Given the description of an element on the screen output the (x, y) to click on. 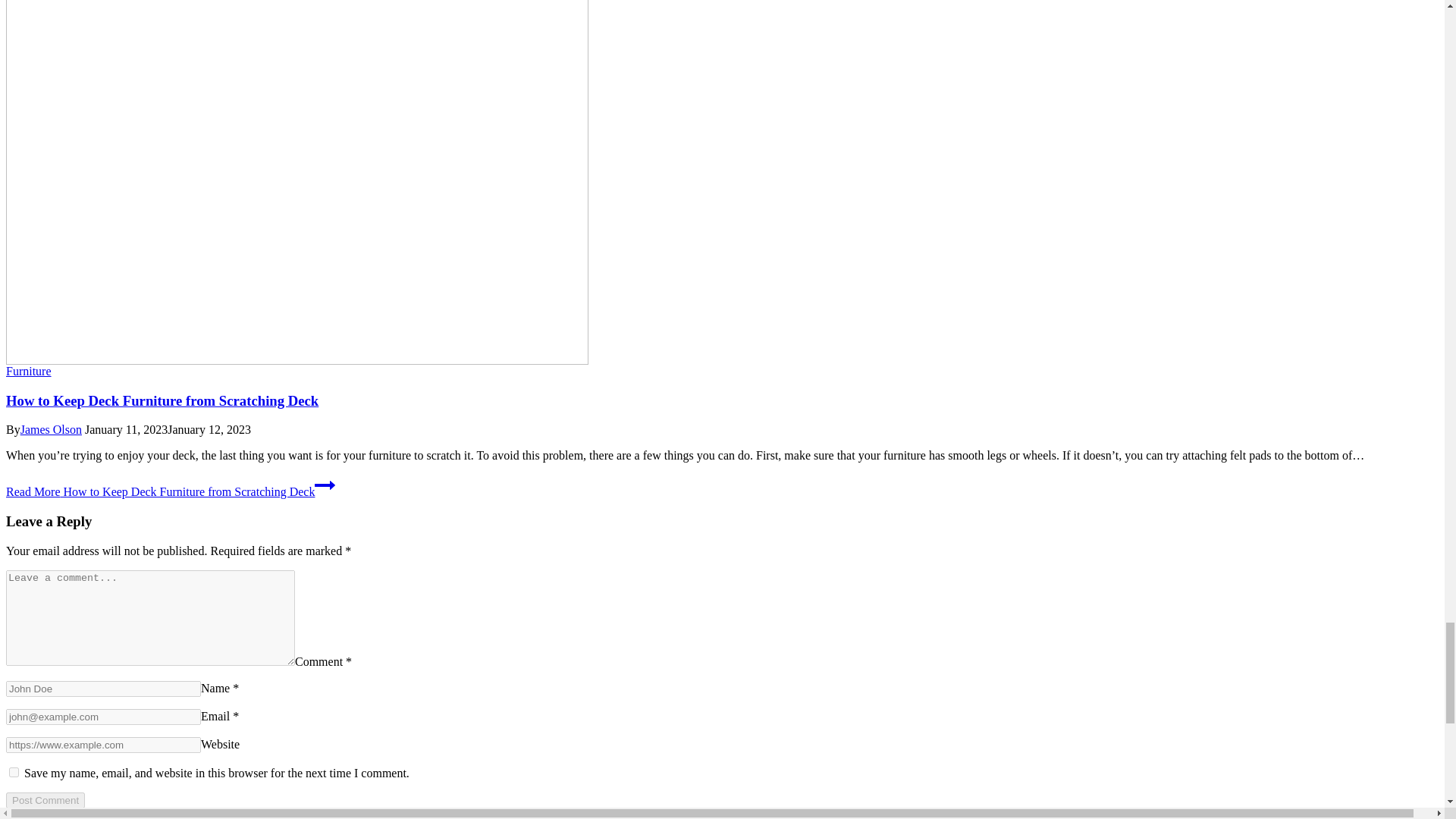
yes (13, 772)
Continue (324, 485)
Post Comment (44, 800)
